Given the description of an element on the screen output the (x, y) to click on. 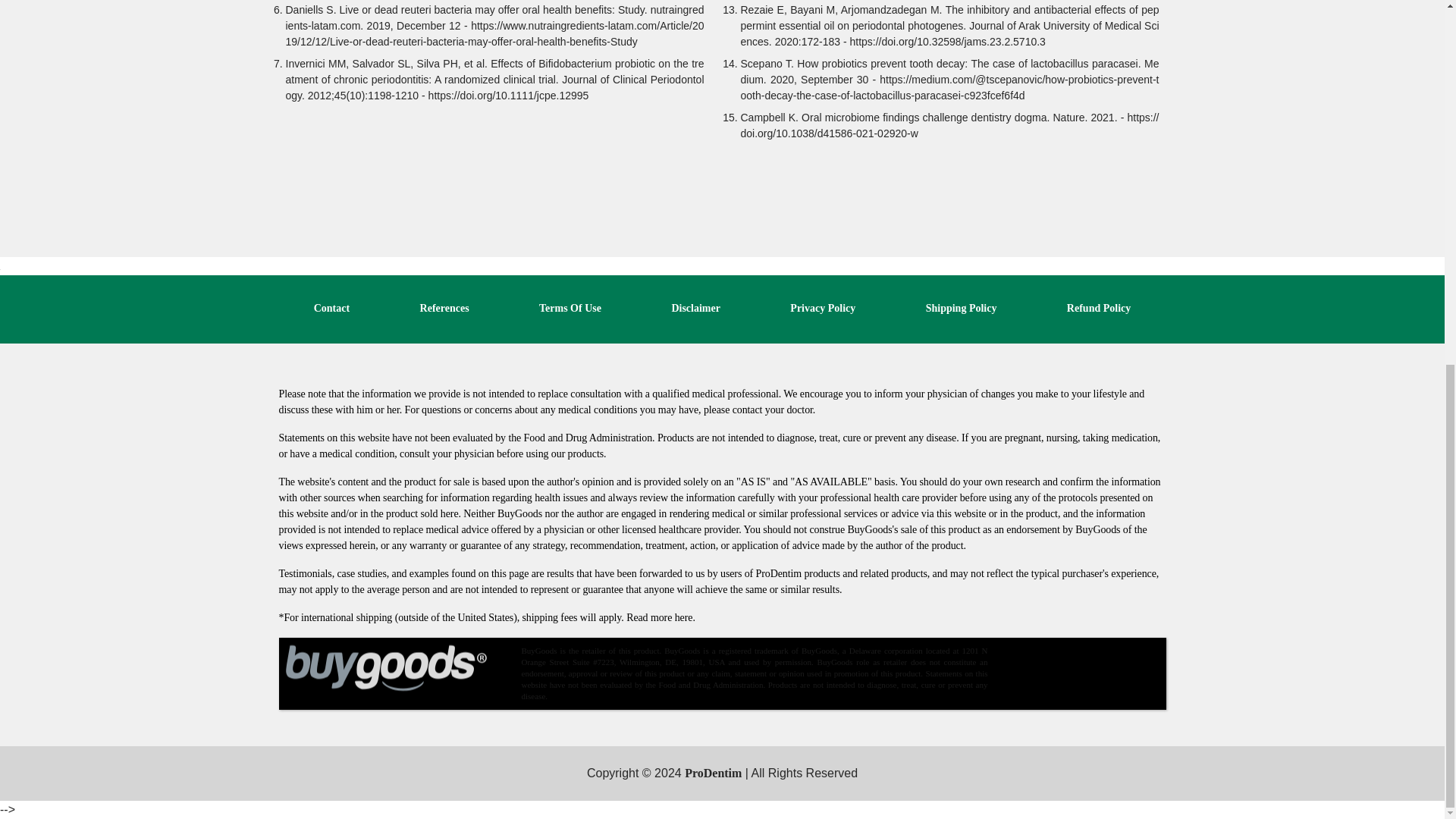
Disclaimer (695, 307)
Shipping Policy (961, 307)
Privacy Policy (823, 307)
References (444, 307)
Contact (331, 307)
Refund Policy (1099, 307)
Read more here (659, 617)
Terms Of Use (569, 307)
